Given the description of an element on the screen output the (x, y) to click on. 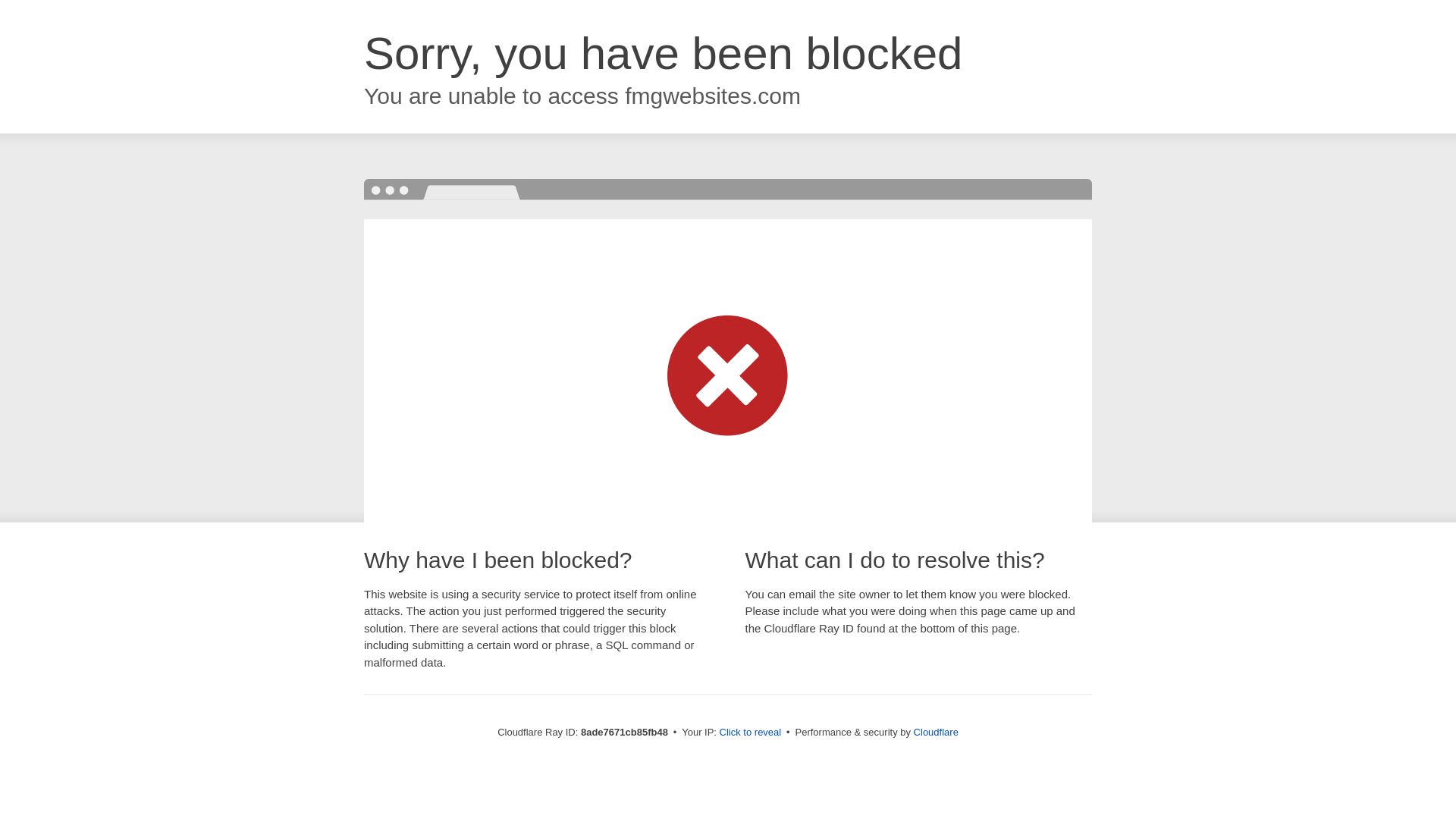
Cloudflare (936, 731)
Click to reveal (750, 732)
